Given the description of an element on the screen output the (x, y) to click on. 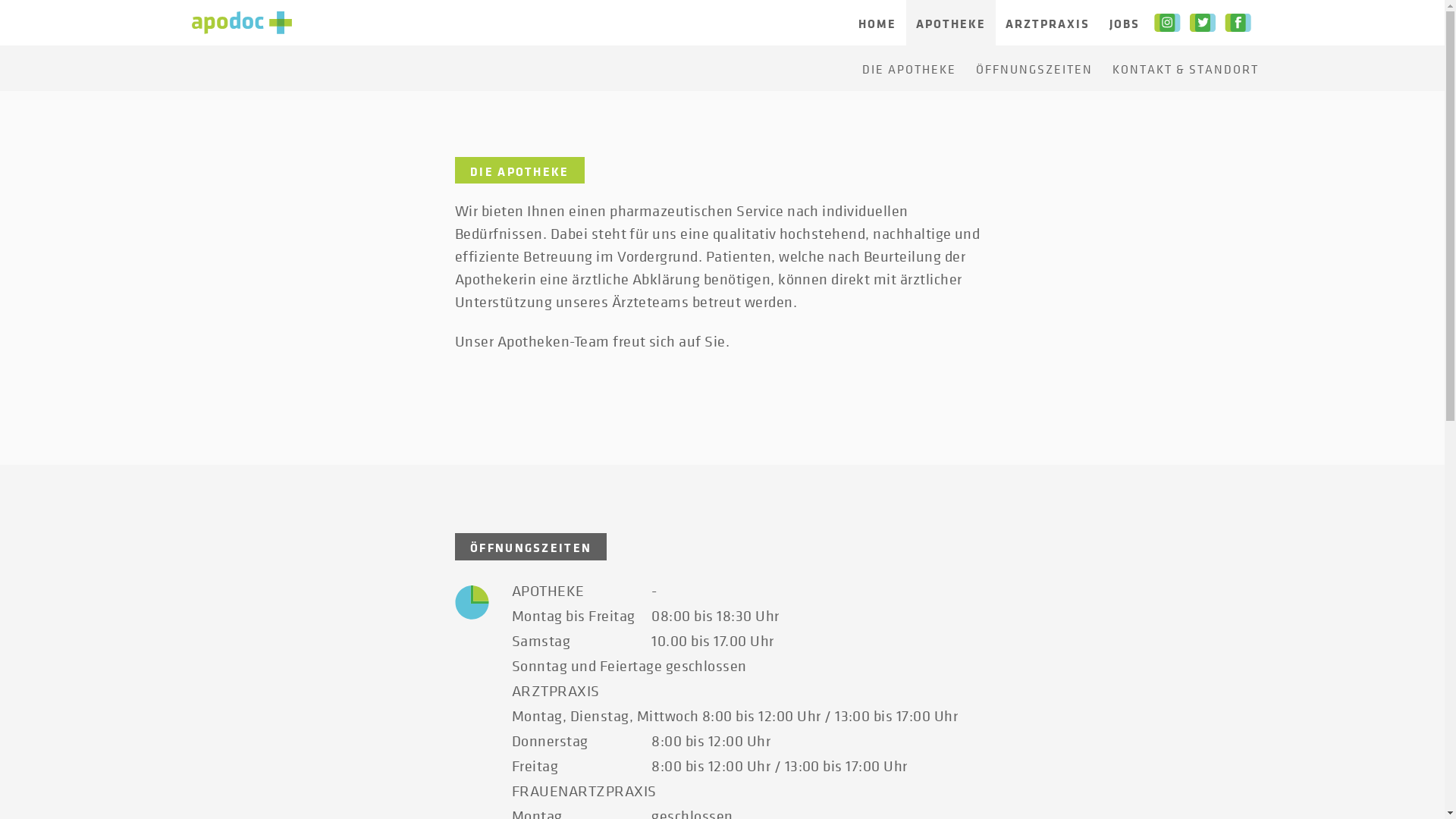
ARZTPRAXIS Element type: text (1046, 22)
HOME Element type: text (876, 22)
KONTAKT & STANDORT Element type: text (1185, 68)
JOBS Element type: text (1124, 22)
APOTHEKE Element type: text (949, 22)
DIE APOTHEKE Element type: text (909, 68)
